Given the description of an element on the screen output the (x, y) to click on. 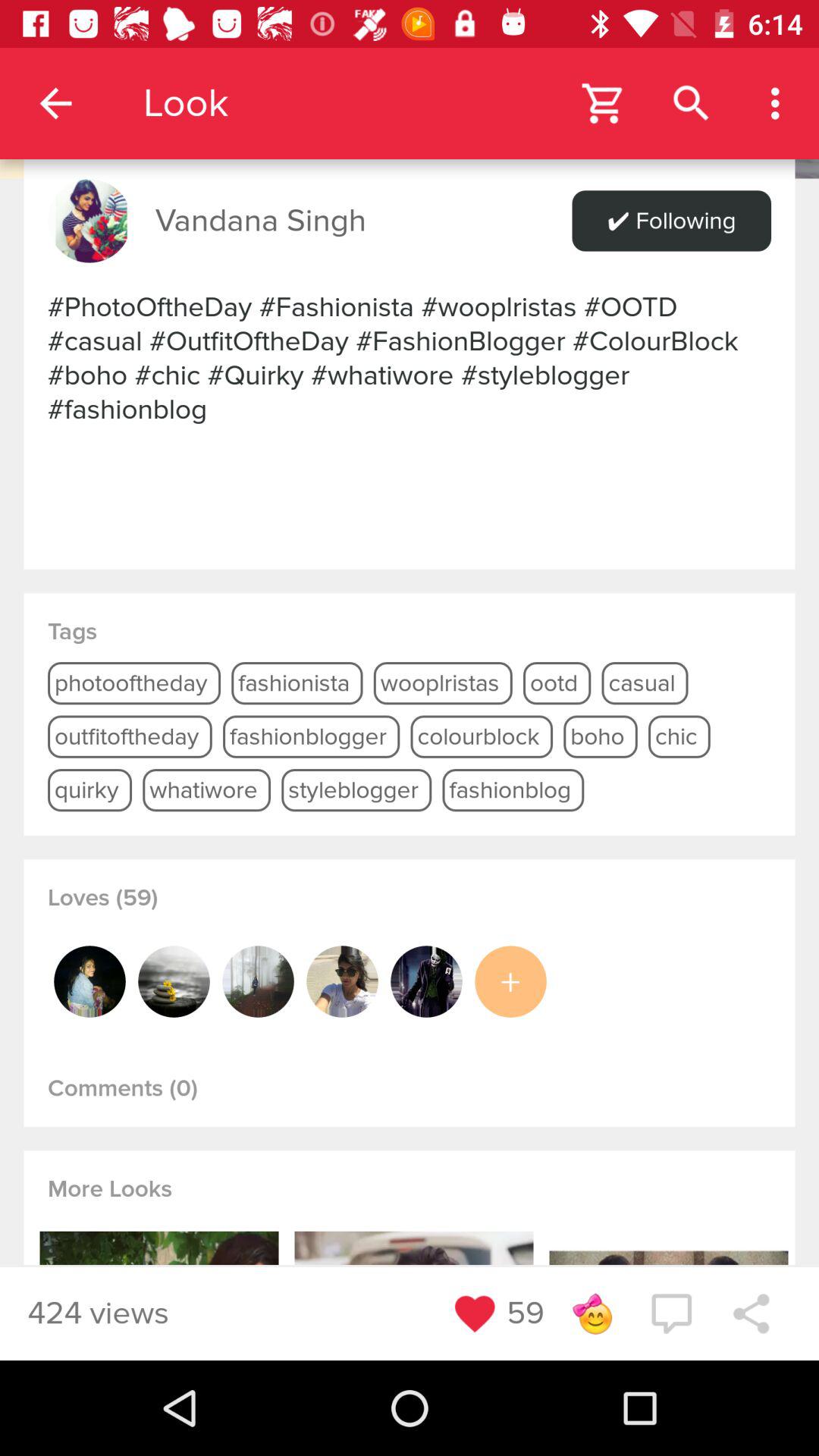
add option (510, 981)
